Given the description of an element on the screen output the (x, y) to click on. 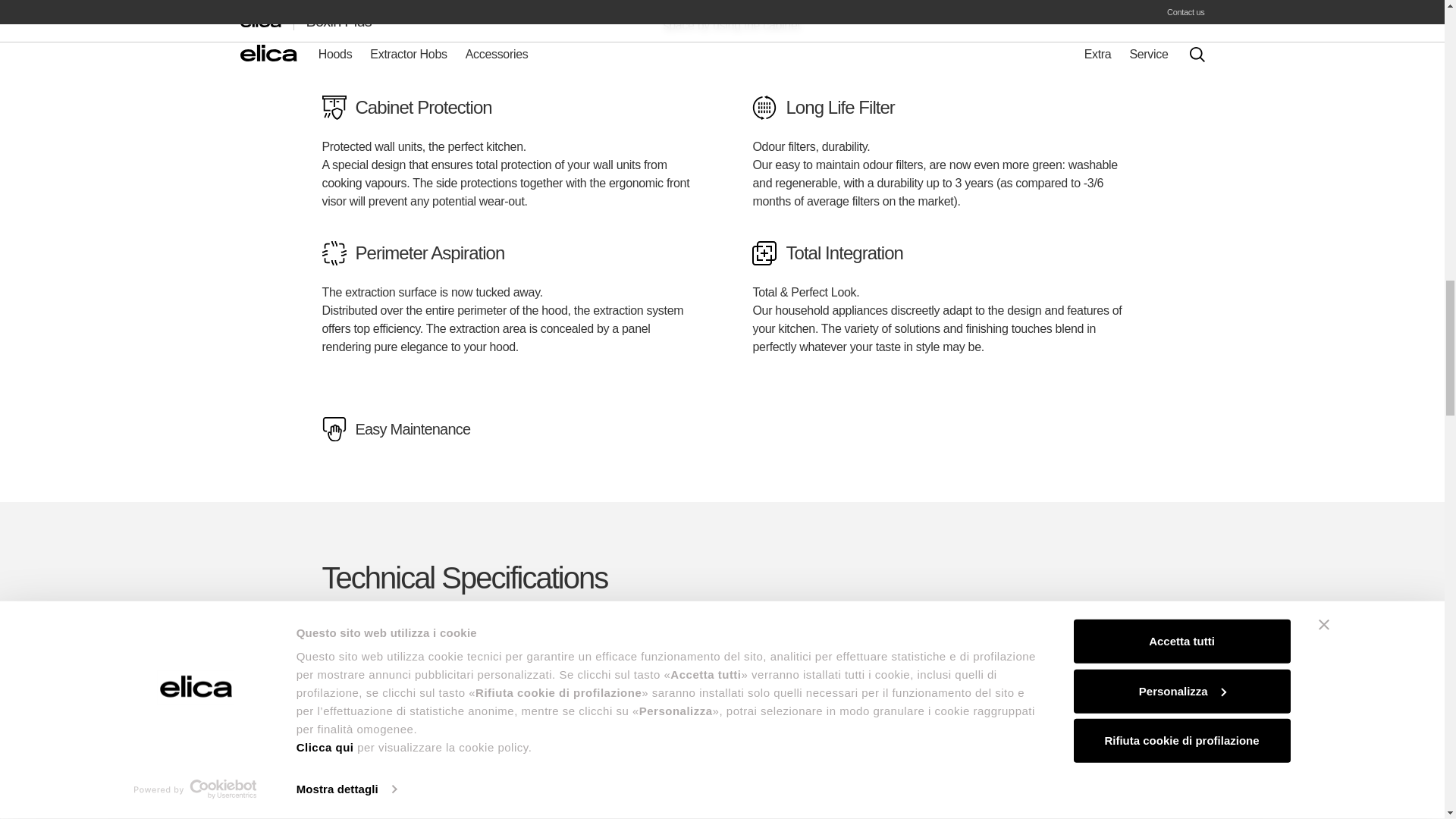
60 (437, 643)
